Given the description of an element on the screen output the (x, y) to click on. 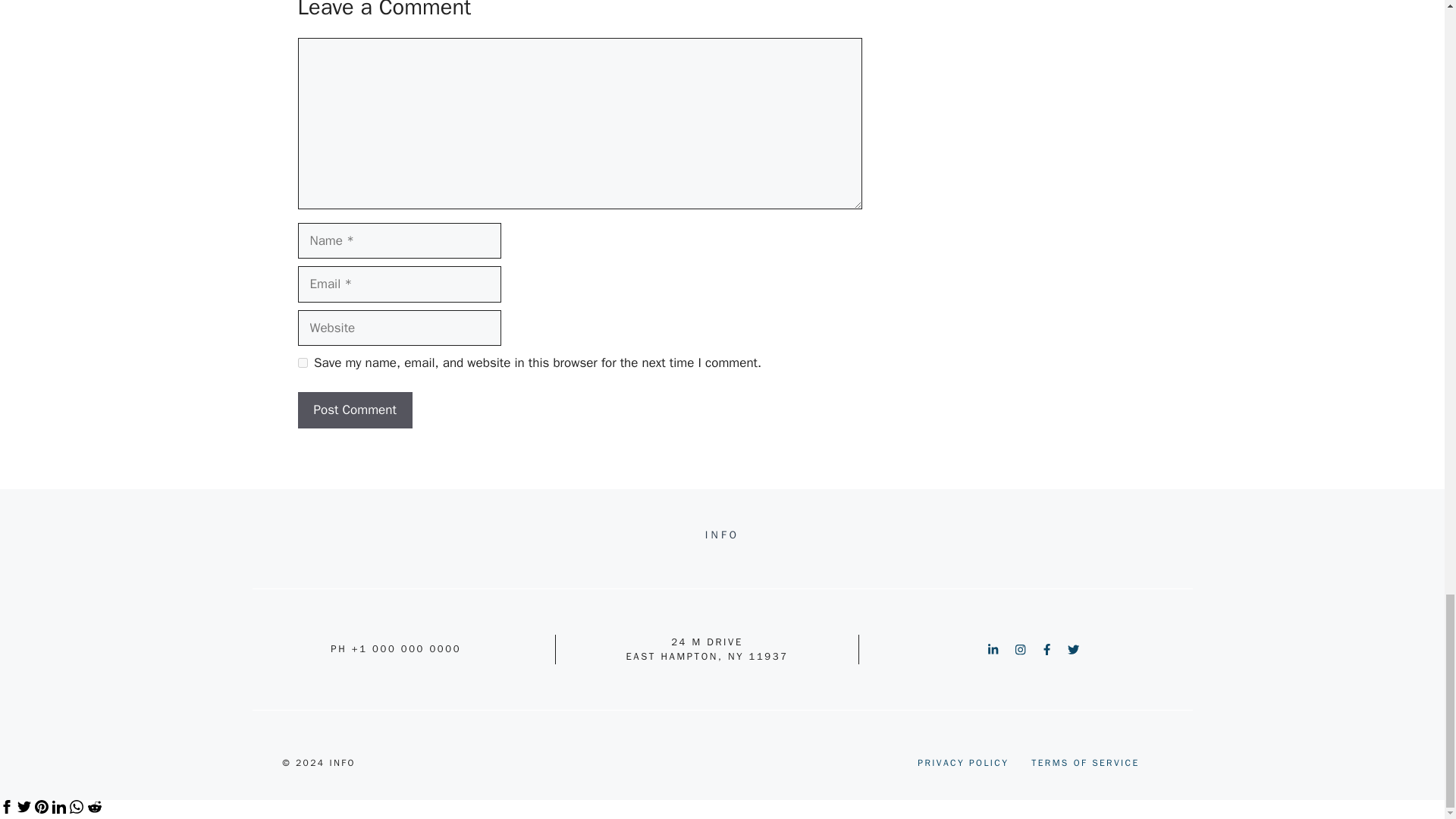
Post Comment (354, 410)
yes (302, 362)
